Given the description of an element on the screen output the (x, y) to click on. 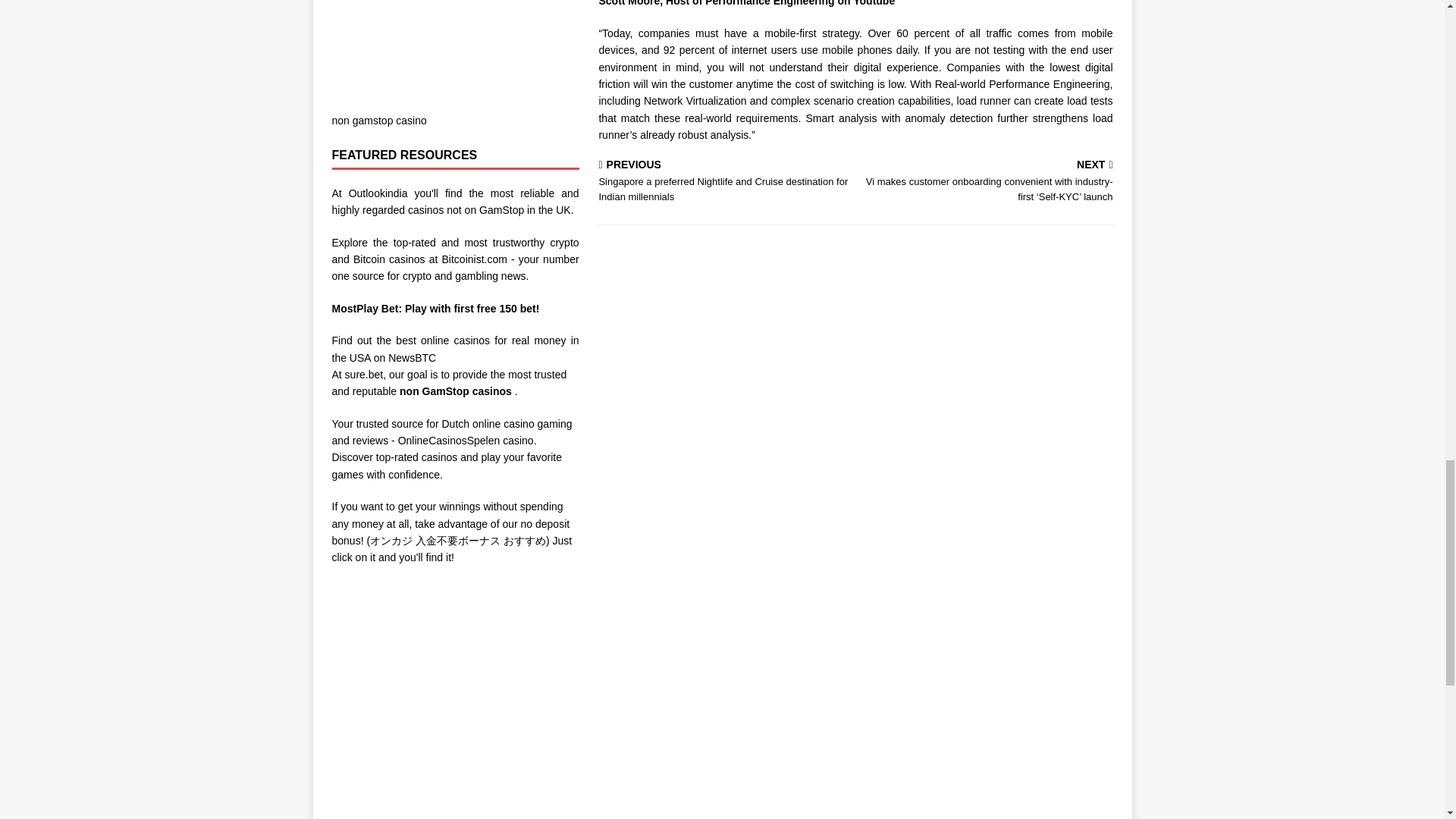
3rd party ad content (455, 46)
